Given the description of an element on the screen output the (x, y) to click on. 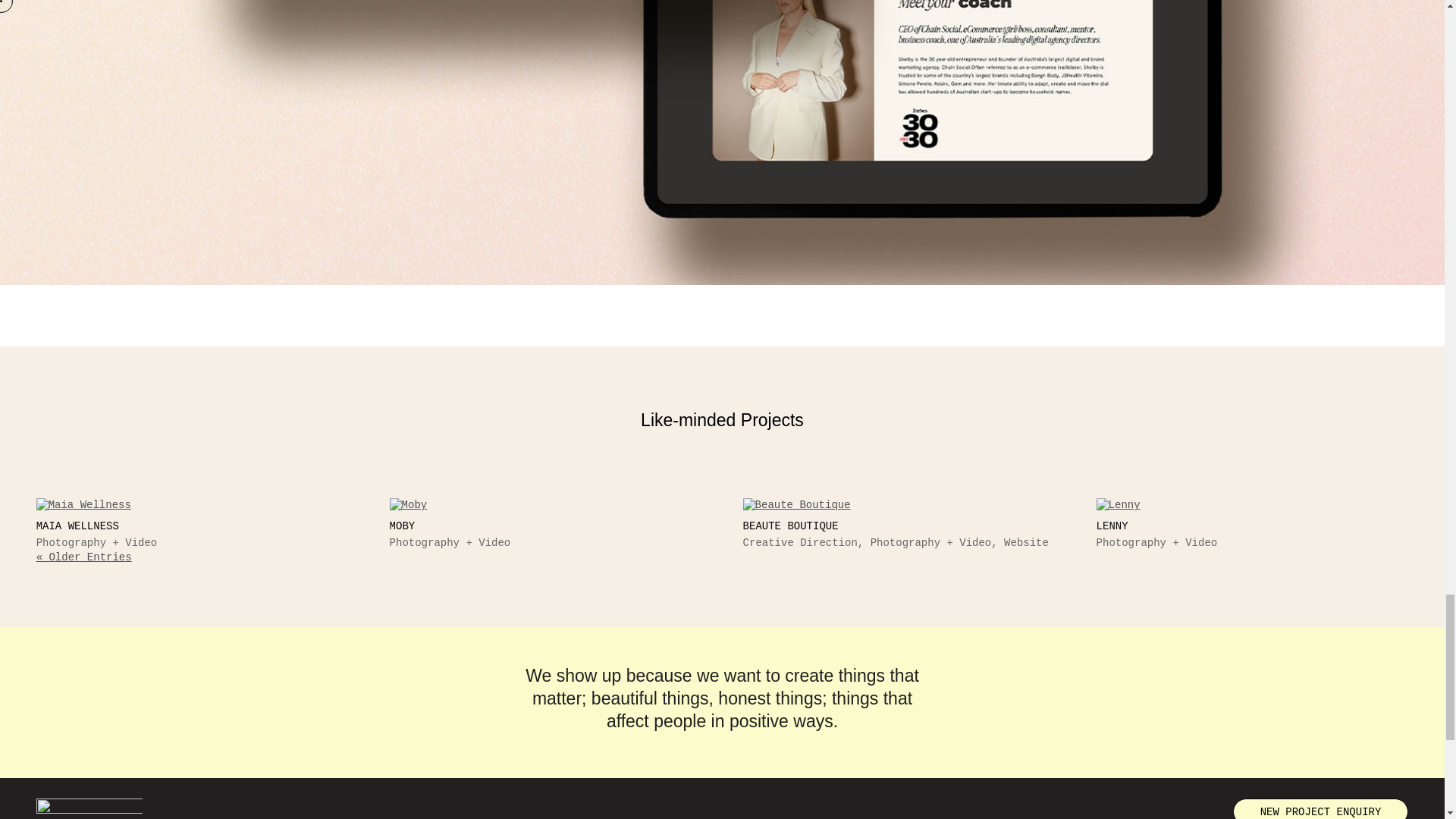
Moby (545, 505)
BEAUTE BOUTIQUE (790, 526)
MAIA WELLNESS (77, 526)
LENNY (1112, 526)
Website (1026, 542)
MOBY (402, 526)
Moby (402, 526)
Creative Direction (799, 542)
Beaute Boutique (790, 526)
NEW PROJECT ENQUIRY (1321, 808)
Maia Wellness (77, 526)
Beaute Boutique (898, 505)
Maia Wellness (192, 505)
